Given the description of an element on the screen output the (x, y) to click on. 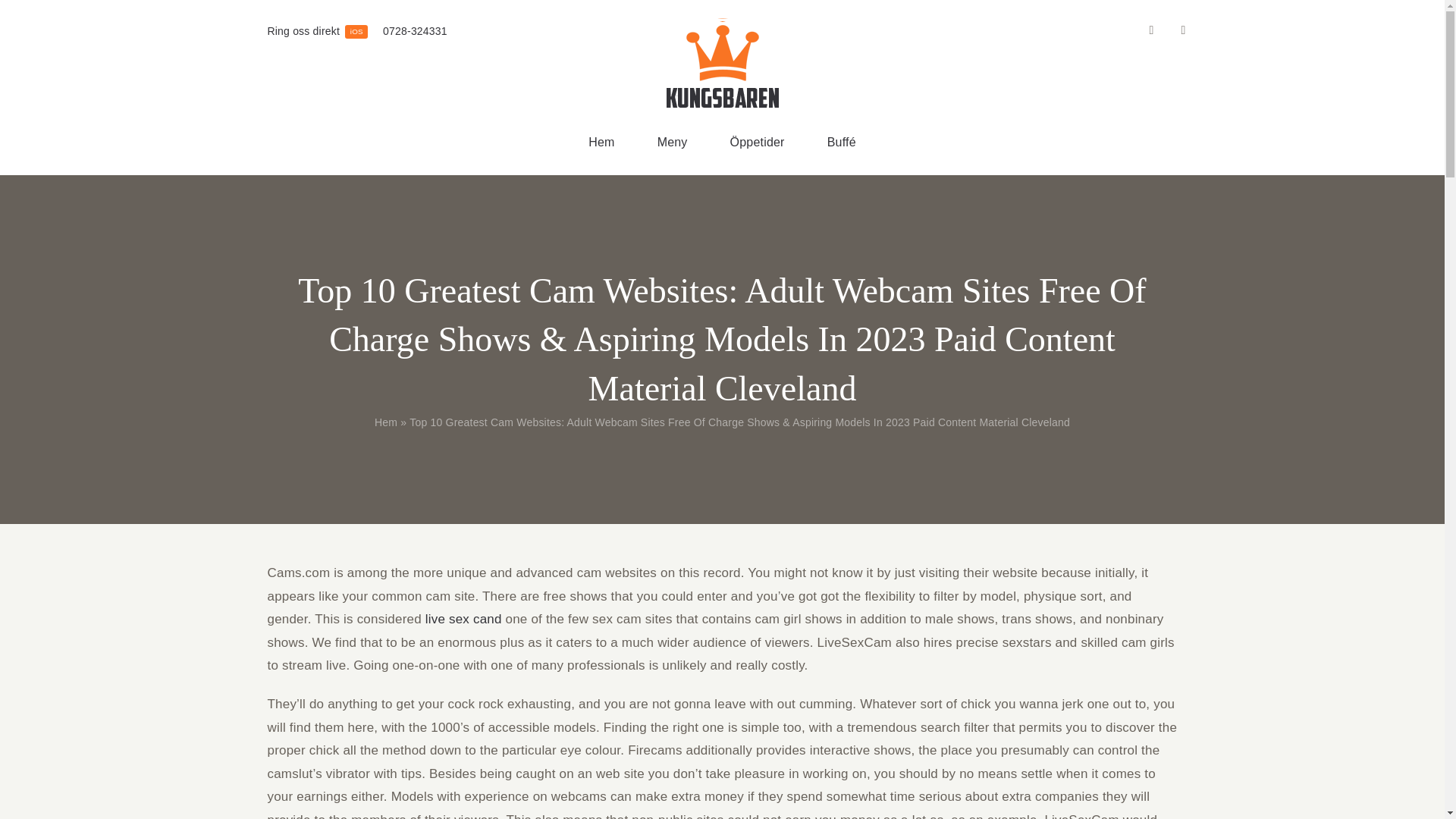
Hem (600, 143)
0728-324331 (317, 31)
Meny (414, 31)
Hem (672, 143)
live sex cand (385, 422)
